Given the description of an element on the screen output the (x, y) to click on. 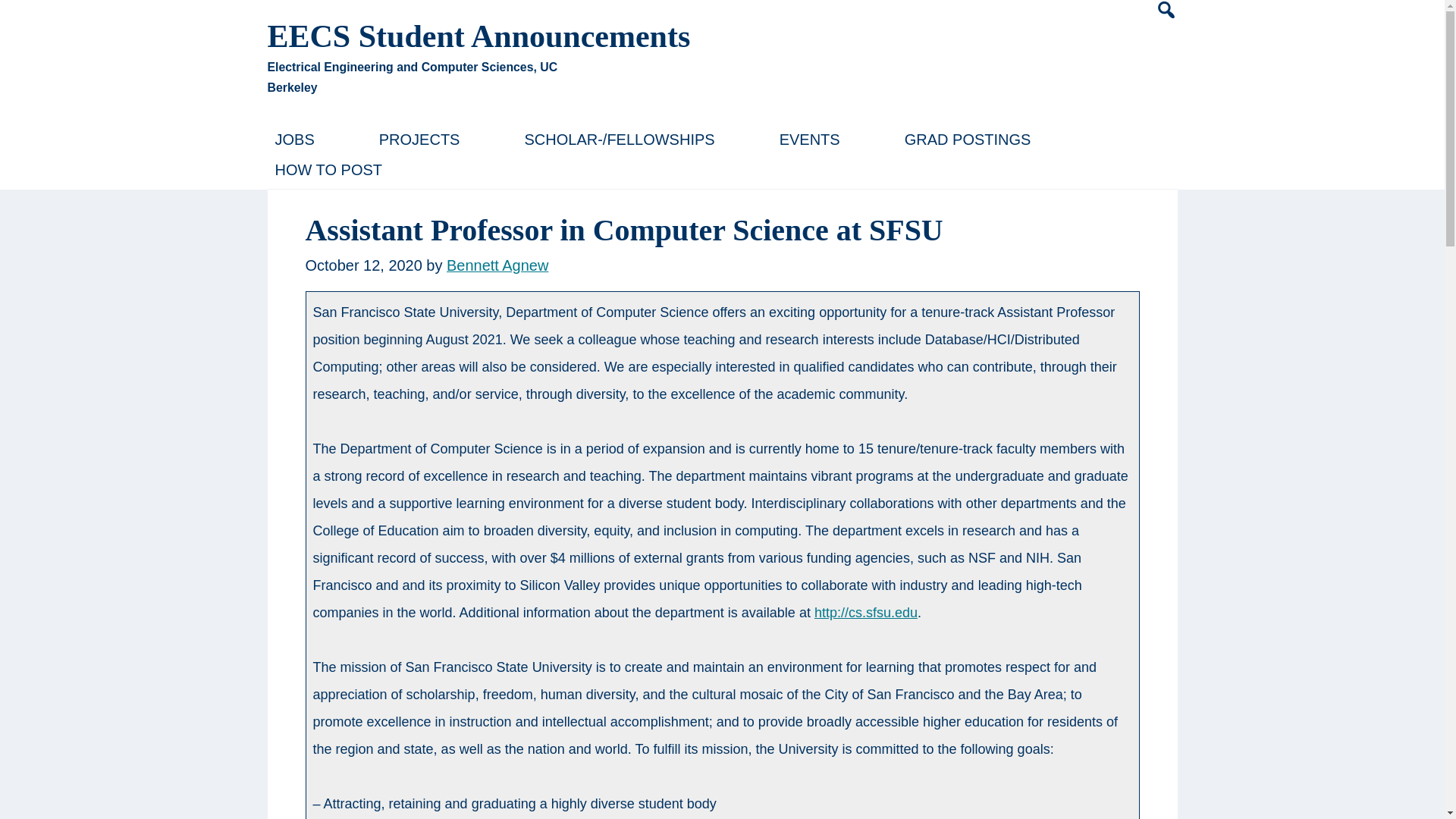
Bennett Agnew (497, 265)
GRAD POSTINGS (967, 139)
PROJECTS (419, 139)
JOBS (293, 139)
EVENTS (809, 139)
EECS Student Announcements (478, 36)
Homepage (478, 36)
HOW TO POST (328, 169)
